Given the description of an element on the screen output the (x, y) to click on. 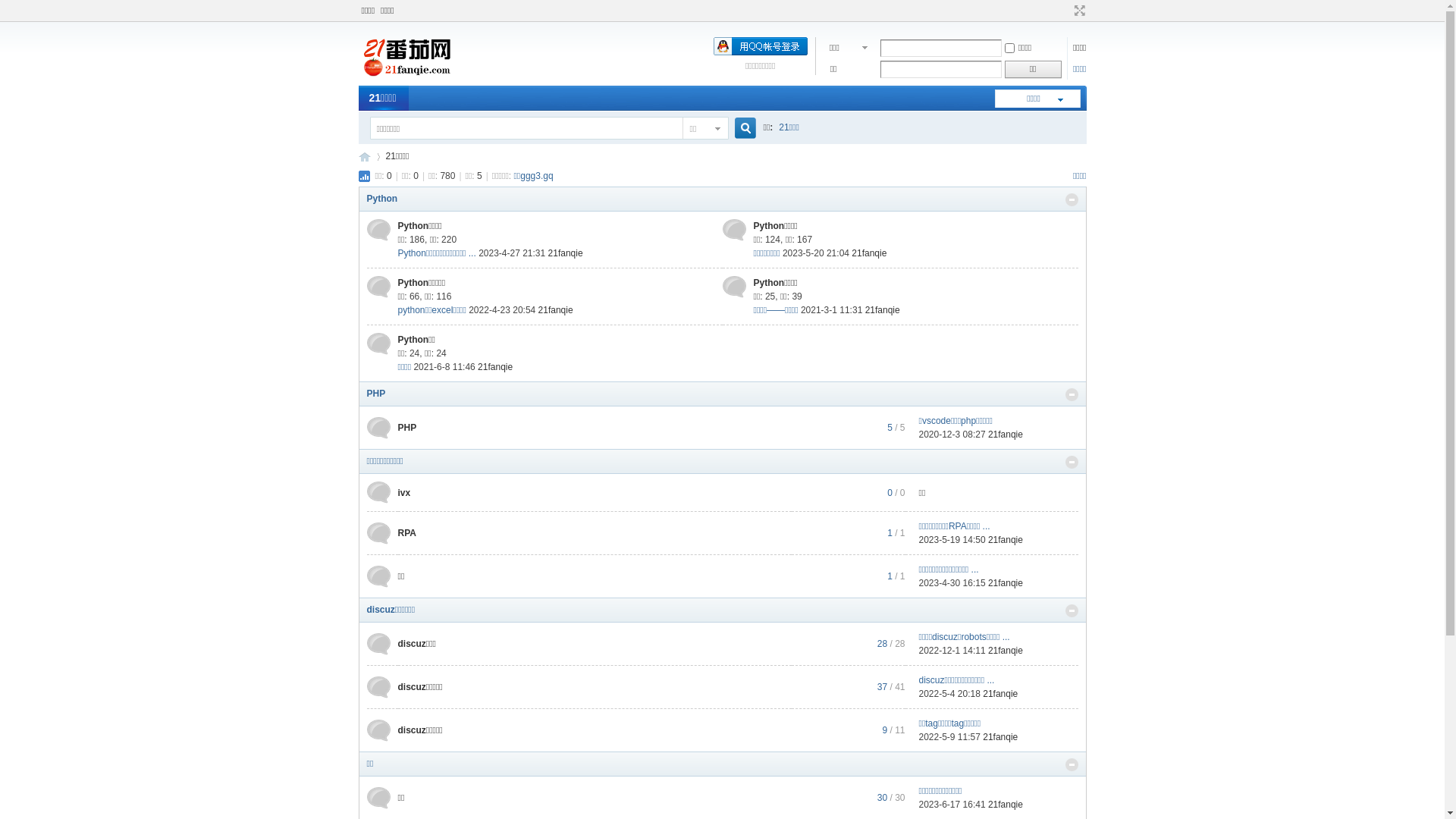
21fanqie Element type: text (1005, 539)
true Element type: text (738, 128)
21fanqie Element type: text (1005, 582)
21fanqie Element type: text (1005, 650)
21fanqie Element type: text (868, 252)
21fanqie Element type: text (565, 252)
21fanqie Element type: text (555, 309)
PHP Element type: text (406, 427)
21fanqie Element type: text (999, 693)
RPA Element type: text (406, 532)
21fanqie Element type: text (1005, 804)
21fanqie Element type: text (1005, 434)
21fanqie Element type: text (999, 736)
Python Element type: text (382, 198)
21fanqie Element type: text (494, 366)
21fanqie Element type: text (882, 309)
ivx Element type: text (403, 491)
PHP Element type: text (376, 393)
